Given the description of an element on the screen output the (x, y) to click on. 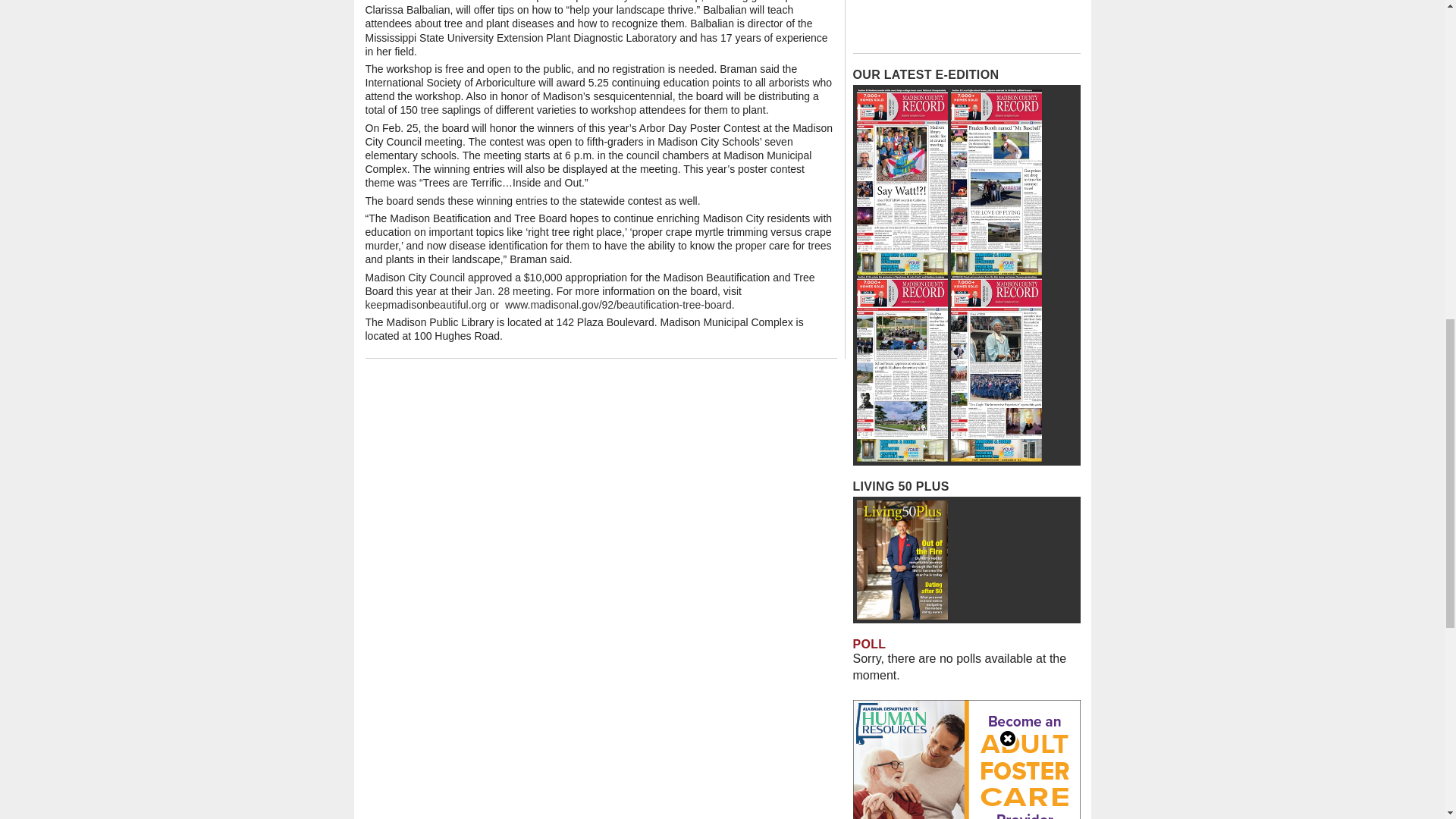
keepmadisonbeautiful.org (425, 304)
3rd party ad content (965, 22)
Jan. 28 meeting (512, 291)
